Given the description of an element on the screen output the (x, y) to click on. 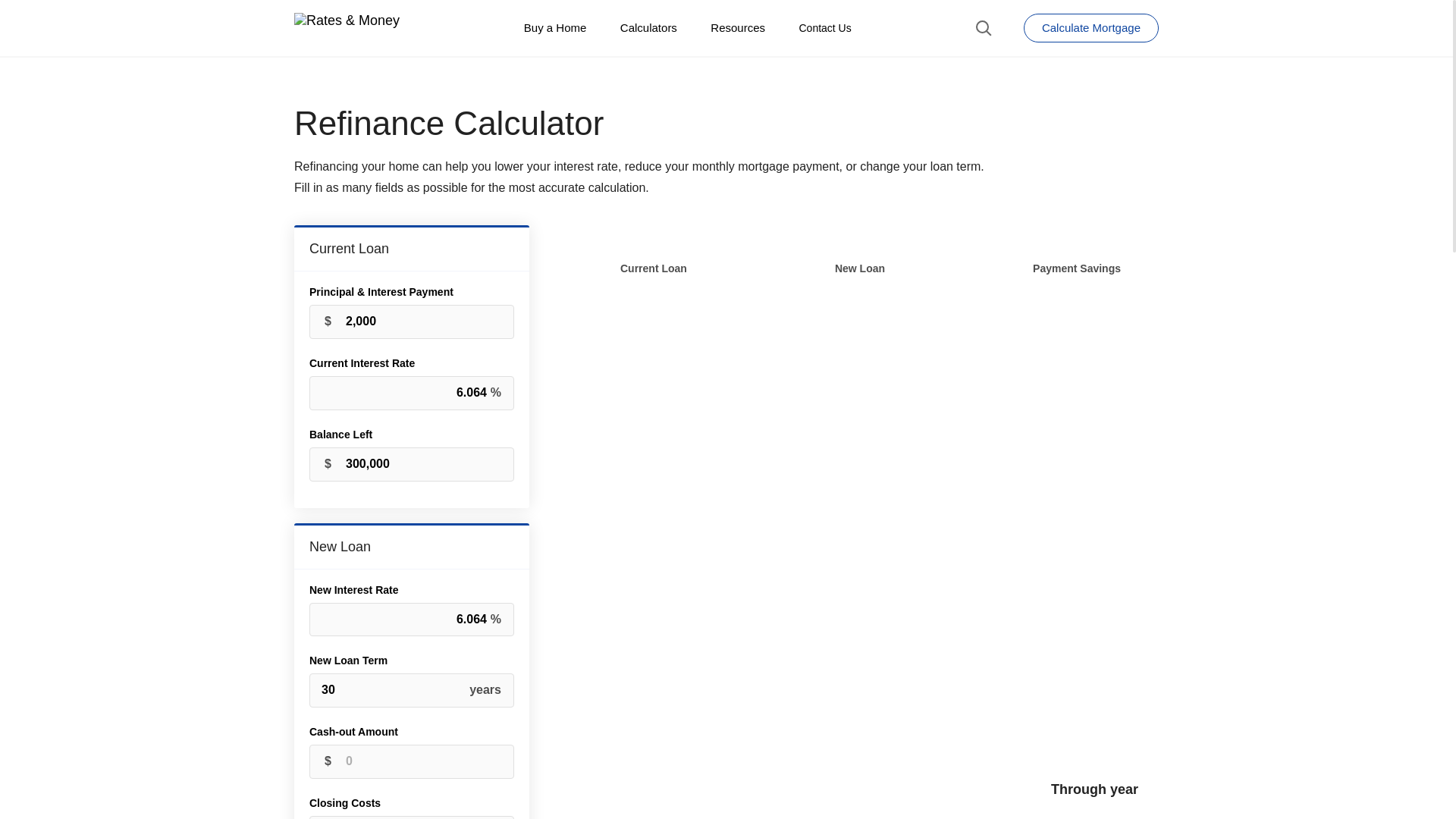
Resources (737, 27)
Home (352, 27)
2,000 (410, 321)
300,000 (410, 464)
6.064 (410, 392)
Calculators (649, 27)
6.064 (410, 619)
Contact Us (824, 28)
Buy a Home (555, 27)
Calculate Mortgage (1090, 27)
